Given the description of an element on the screen output the (x, y) to click on. 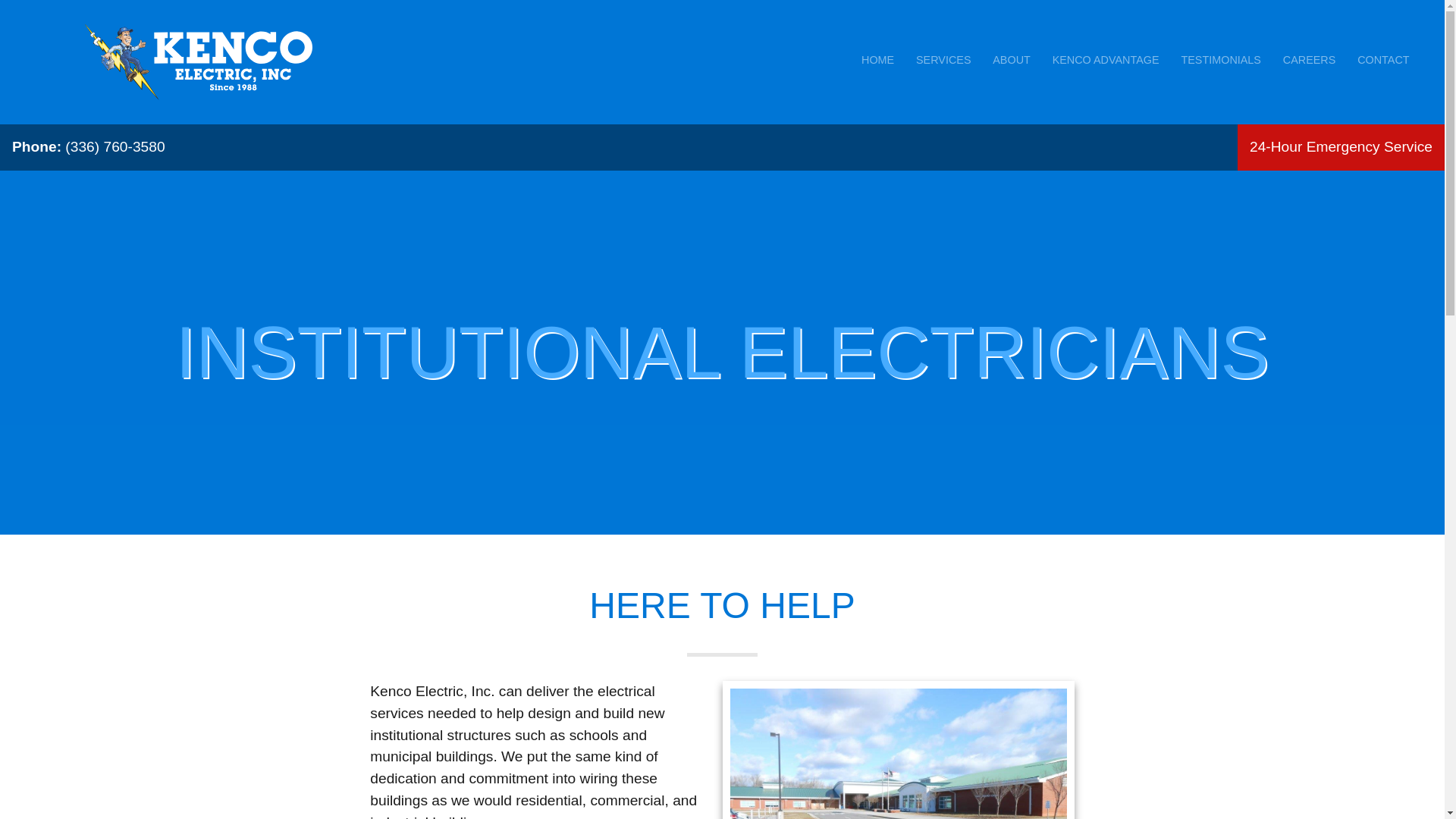
HOME (877, 59)
SERVICES (943, 59)
ABOUT (1011, 59)
CAREERS (1309, 59)
TESTIMONIALS (1220, 59)
CONTACT (1382, 59)
KENCO ADVANTAGE (1105, 59)
